Given the description of an element on the screen output the (x, y) to click on. 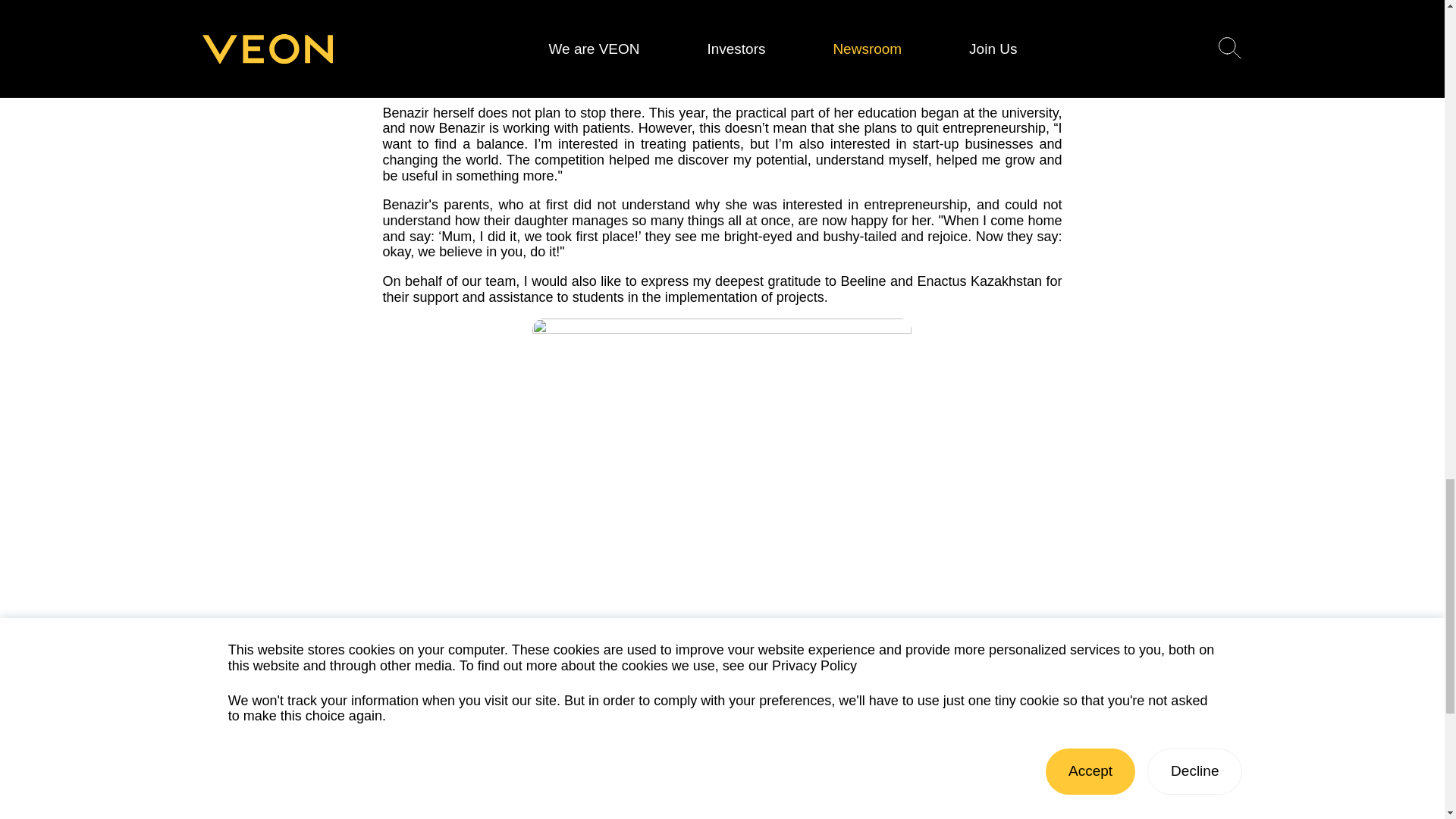
We are VEON (245, 814)
